Given the description of an element on the screen output the (x, y) to click on. 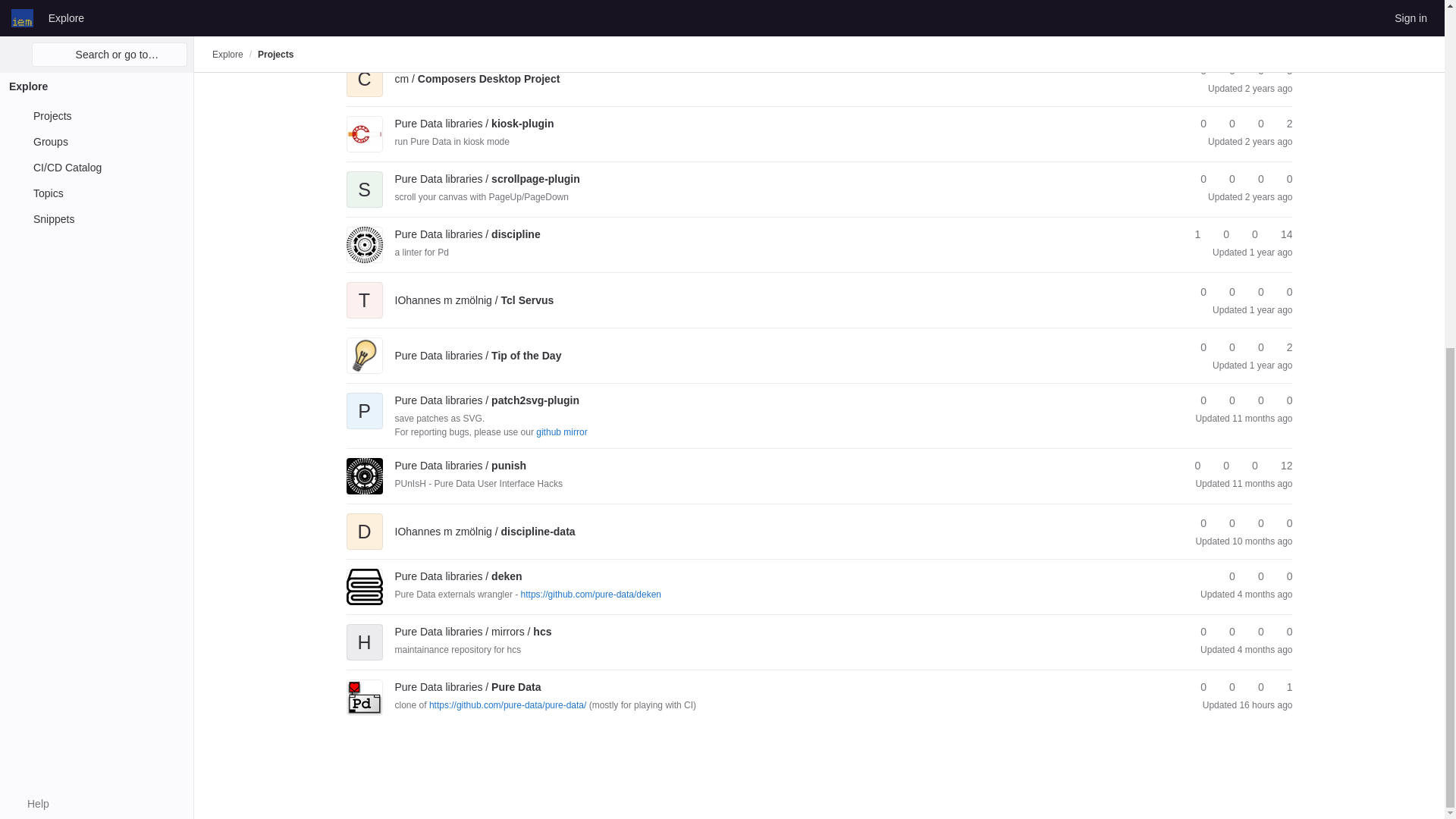
Help (30, 204)
